Given the description of an element on the screen output the (x, y) to click on. 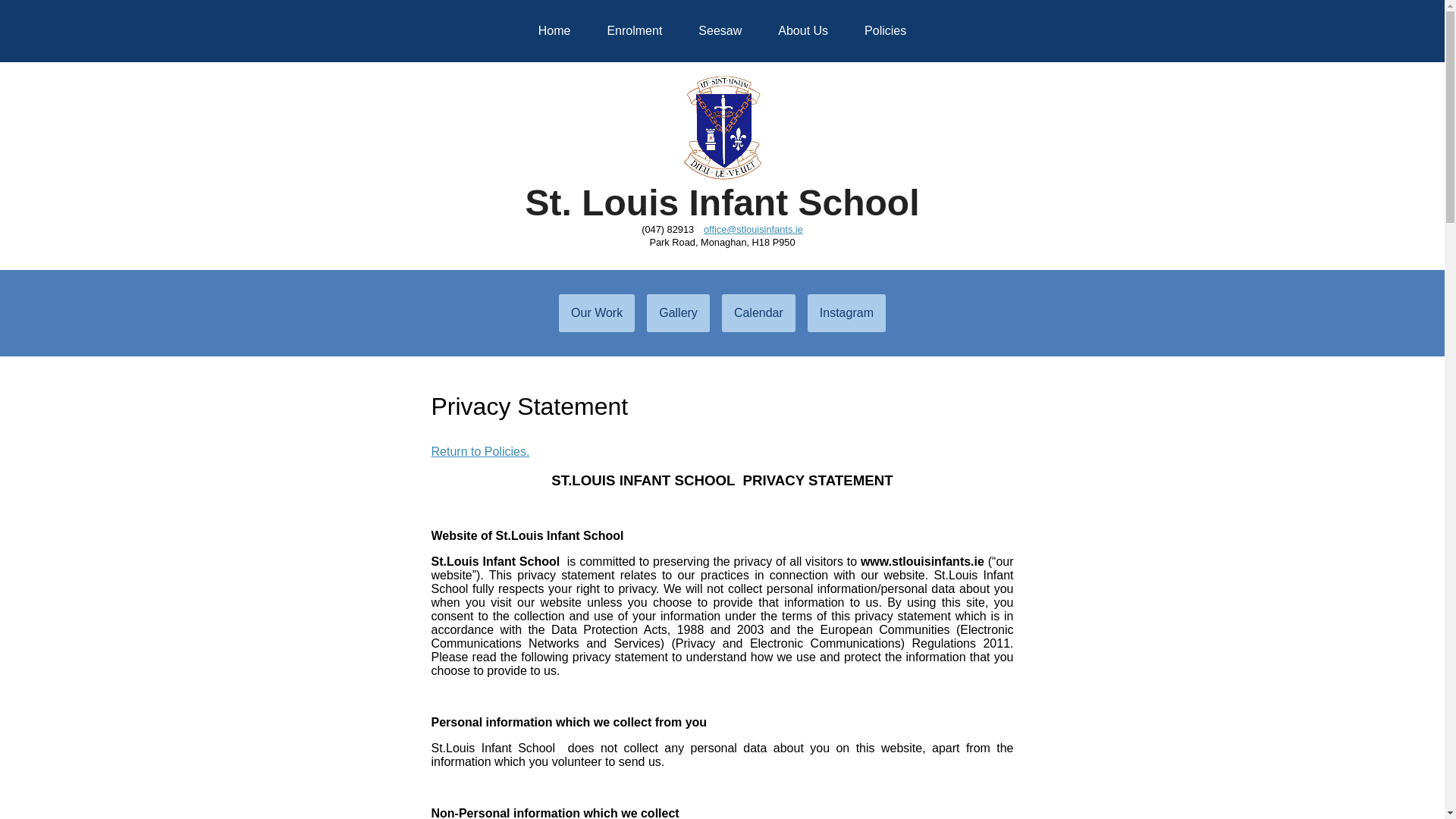
Policies (884, 30)
St. Louis Infant School (721, 202)
Our Work (596, 313)
Home (554, 30)
About Us (802, 30)
Calendar (758, 313)
Instagram (846, 313)
Enrolment (634, 30)
Return to Policies. (479, 451)
Seesaw (719, 30)
Gallery (678, 313)
